Given the description of an element on the screen output the (x, y) to click on. 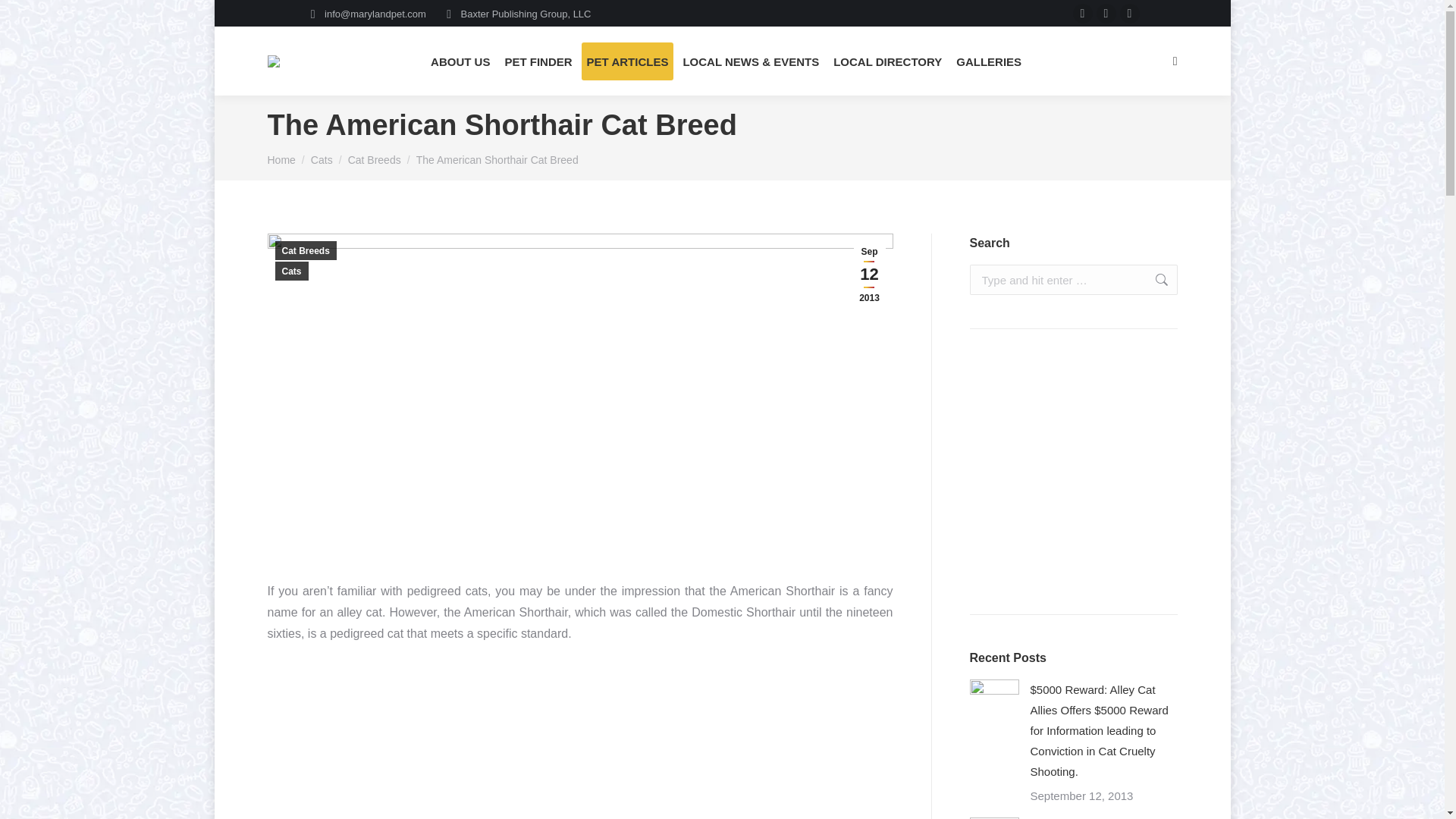
Facebook page opens in new window (1083, 13)
Home (280, 159)
Go! (1153, 279)
X page opens in new window (1106, 13)
Pinterest page opens in new window (1129, 13)
X page opens in new window (1106, 13)
PET FINDER (537, 61)
Pinterest page opens in new window (1129, 13)
Facebook page opens in new window (1083, 13)
Go! (1153, 279)
